Given the description of an element on the screen output the (x, y) to click on. 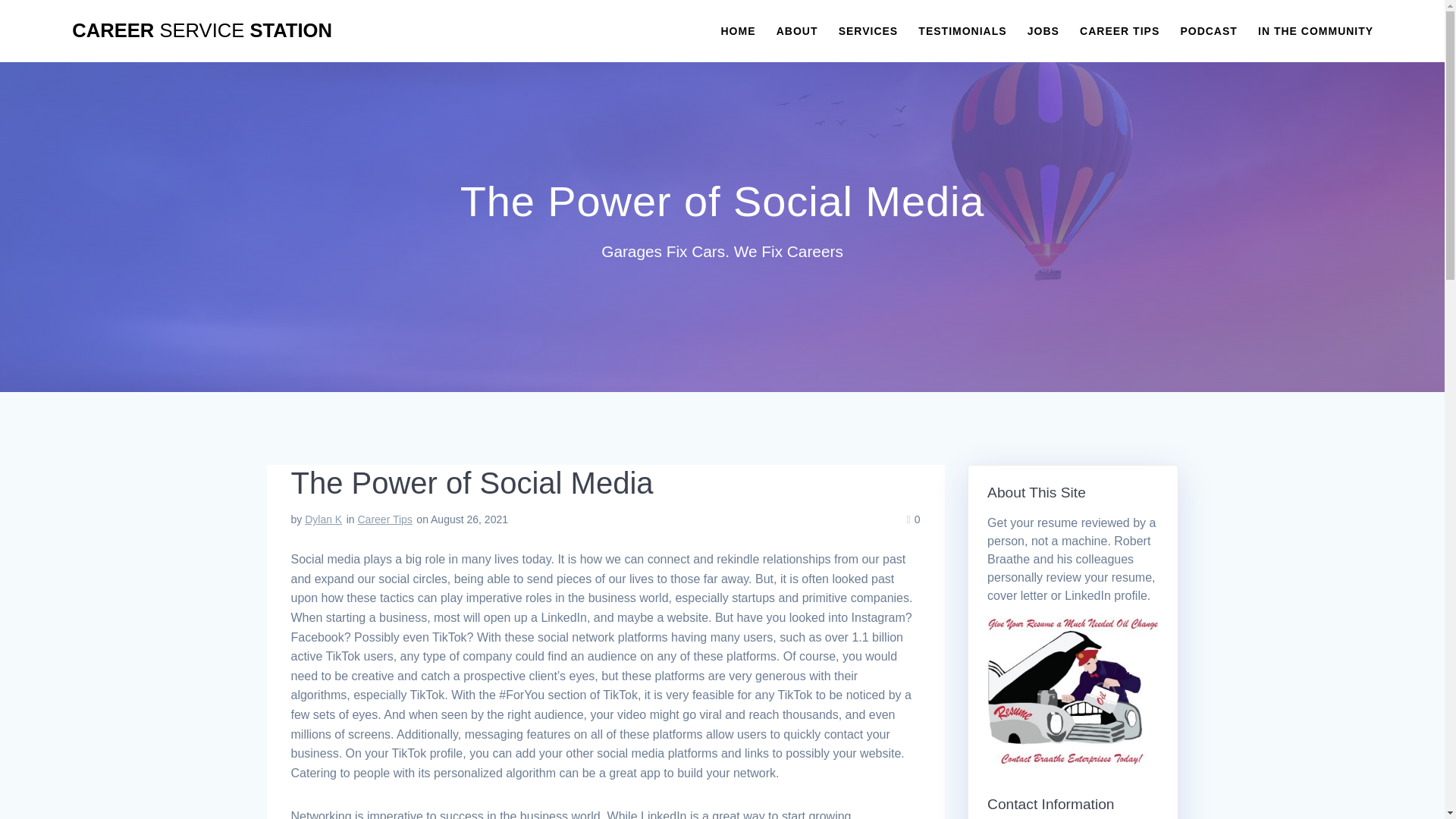
SERVICES (868, 30)
PODCAST (1207, 30)
Career Tips (385, 519)
JOBS (1043, 30)
CAREER SERVICE STATION (201, 30)
Dylan K (323, 519)
Posts by Dylan K (323, 519)
HOME (737, 30)
ABOUT (797, 30)
TESTIMONIALS (962, 30)
IN THE COMMUNITY (1315, 30)
CAREER TIPS (1119, 30)
